Given the description of an element on the screen output the (x, y) to click on. 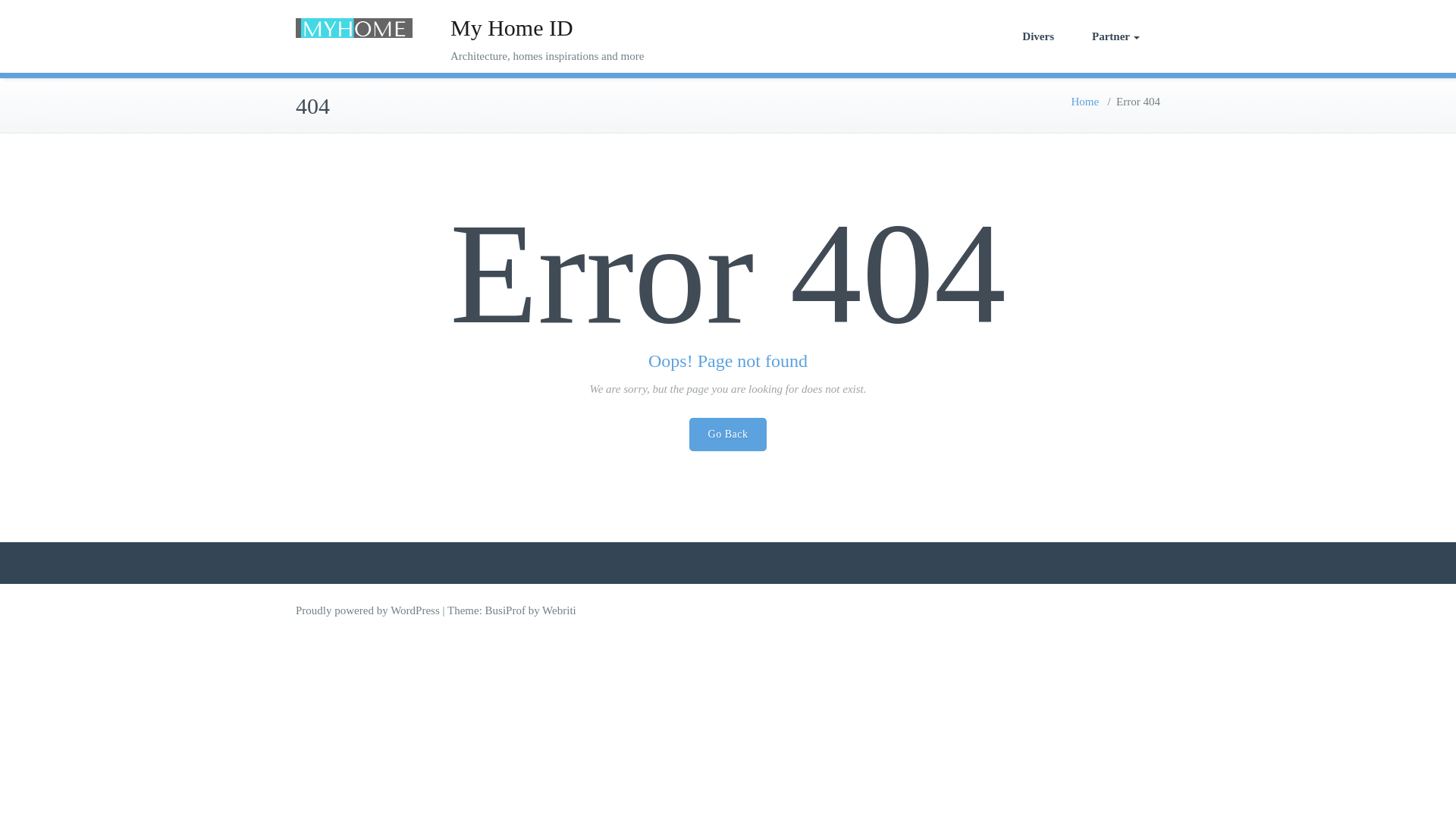
Partner (1115, 36)
Proudly powered by WordPress (367, 610)
Home (1084, 101)
Go Back (727, 434)
Divers (1038, 36)
BusiProf (504, 610)
My Home ID (511, 27)
